Given the description of an element on the screen output the (x, y) to click on. 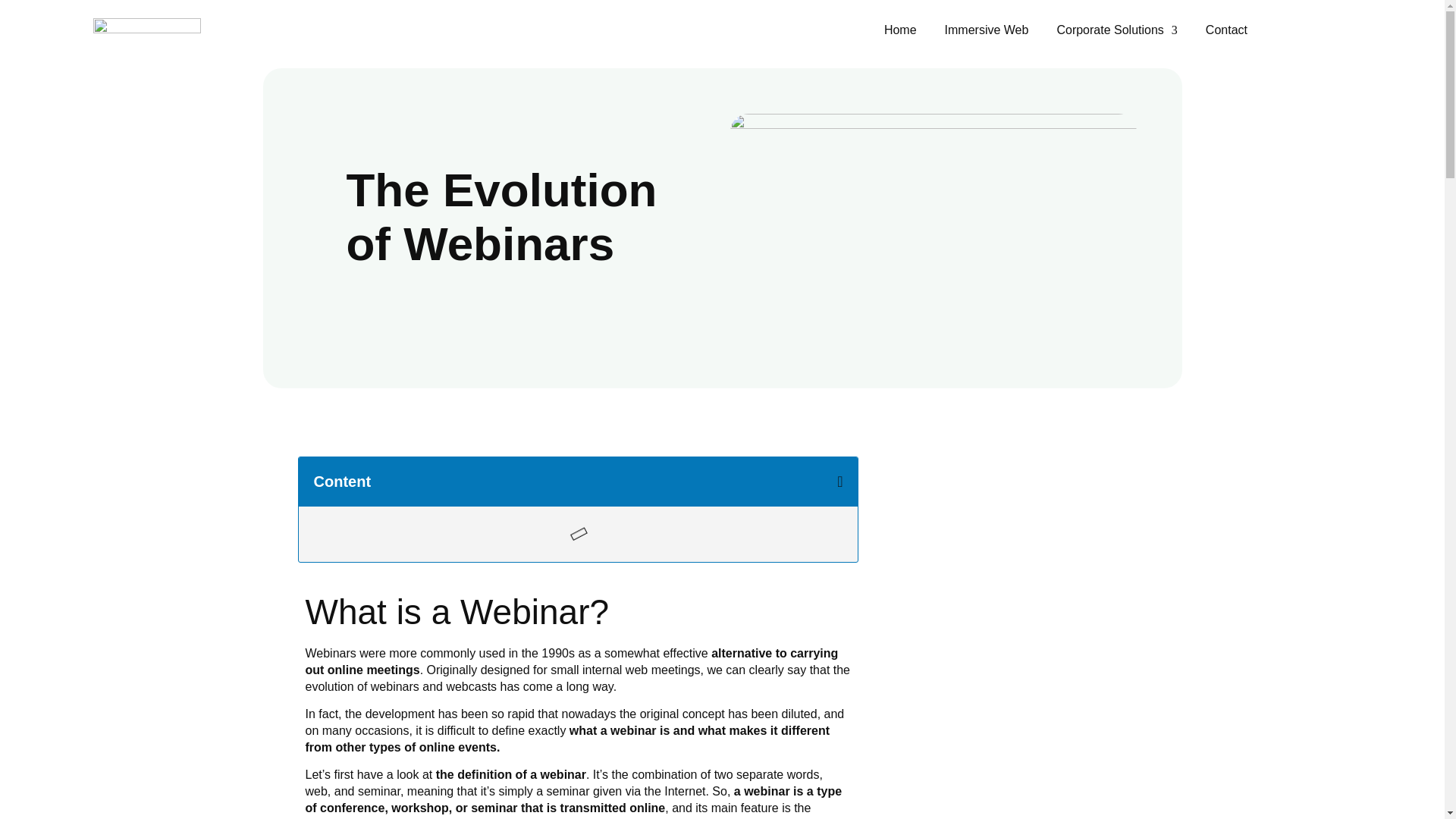
Corporate Solutions (1116, 30)
Contact (1226, 30)
Home (900, 30)
Immersive Web (986, 30)
